Given the description of an element on the screen output the (x, y) to click on. 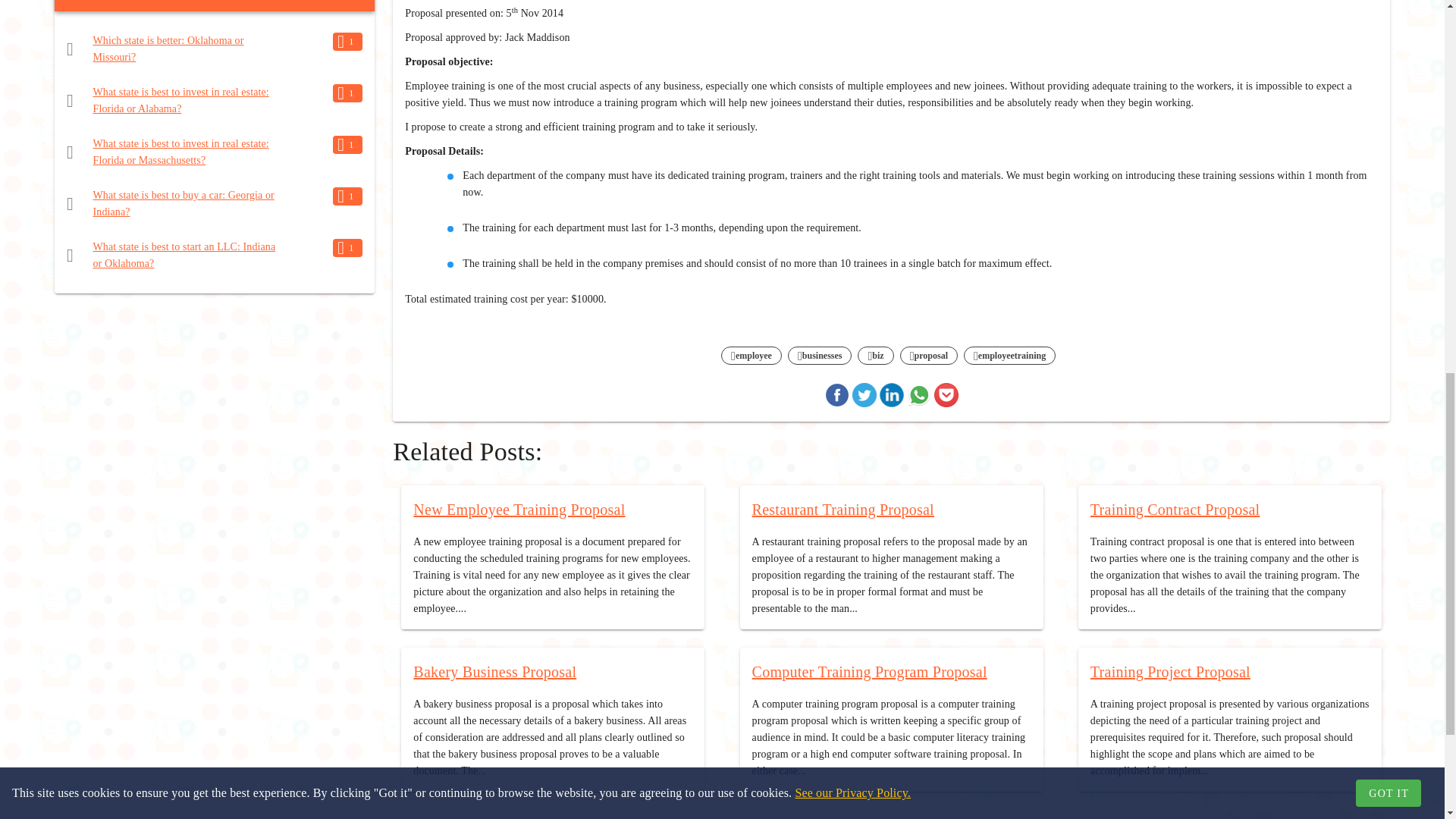
employee (750, 355)
Restaurant Training Proposal (843, 509)
New Employee Training Proposal (518, 509)
What state is best to start an LLC: Indiana or Oklahoma? (184, 254)
Which state is better: Oklahoma or Missouri? (168, 49)
businesses (820, 355)
What state is best to buy a car: Georgia or Indiana? (184, 203)
employeetraining (1009, 355)
What state is best to buy a car: Georgia or Indiana? (184, 203)
proposal (928, 355)
biz (875, 355)
Which state is better: Oklahoma or Missouri? (168, 49)
